Given the description of an element on the screen output the (x, y) to click on. 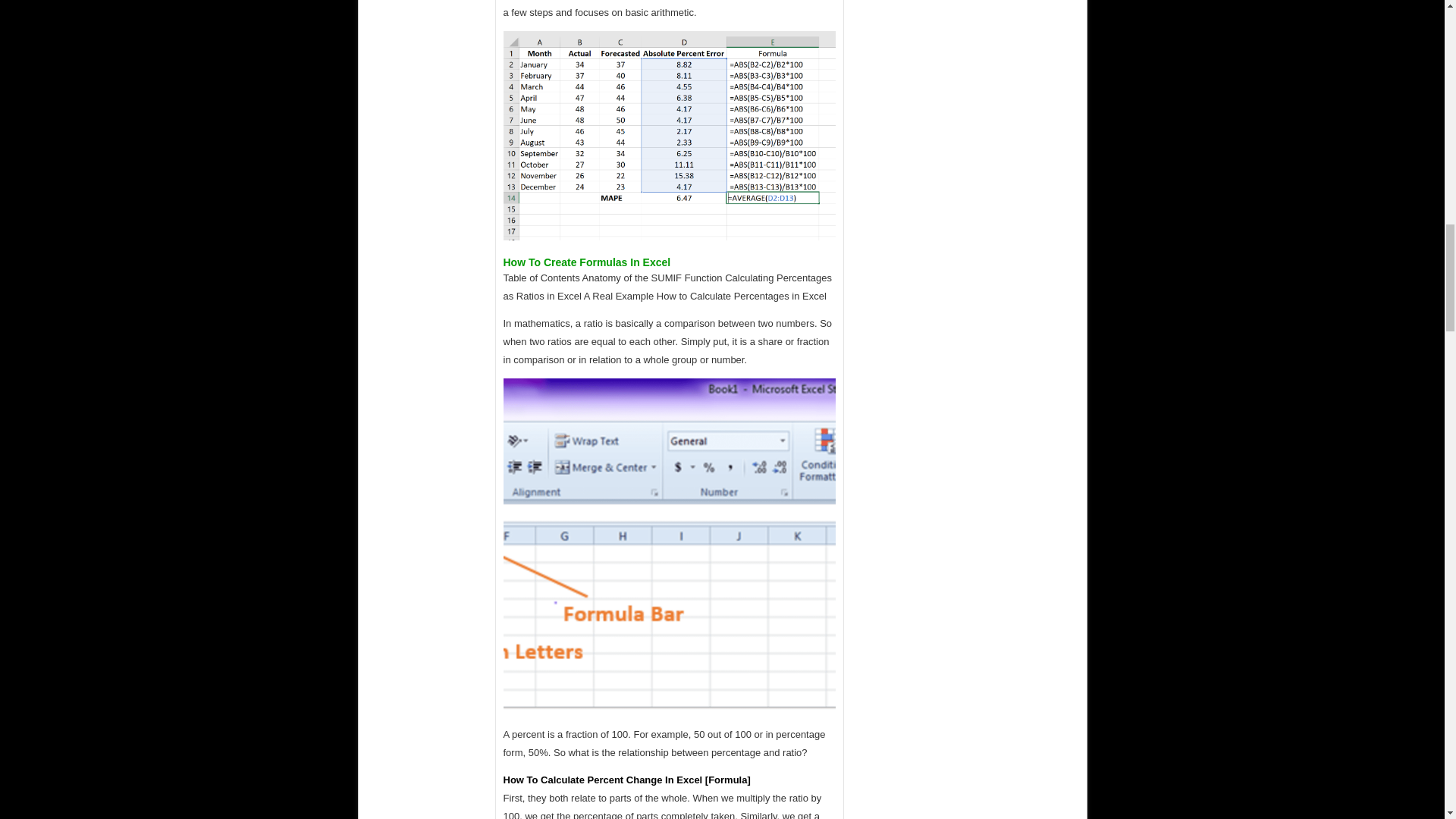
How To Calculate Percentage In Excel Formula (669, 135)
How To Calculate Percentage In Excel Formula (669, 544)
